Given the description of an element on the screen output the (x, y) to click on. 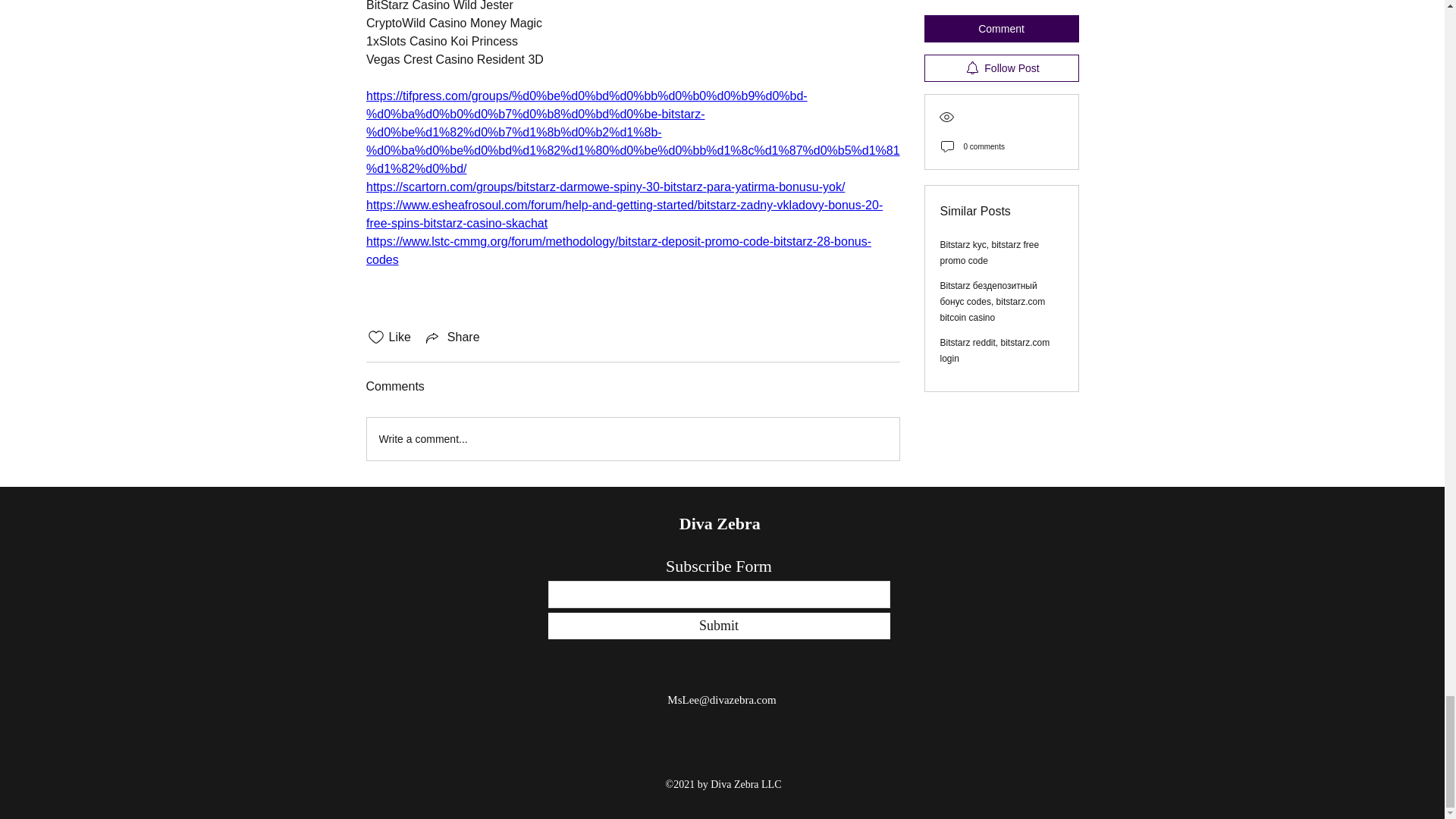
Submit (718, 625)
Diva Zebra  (721, 523)
Write a comment... (632, 438)
Share (451, 337)
